Given the description of an element on the screen output the (x, y) to click on. 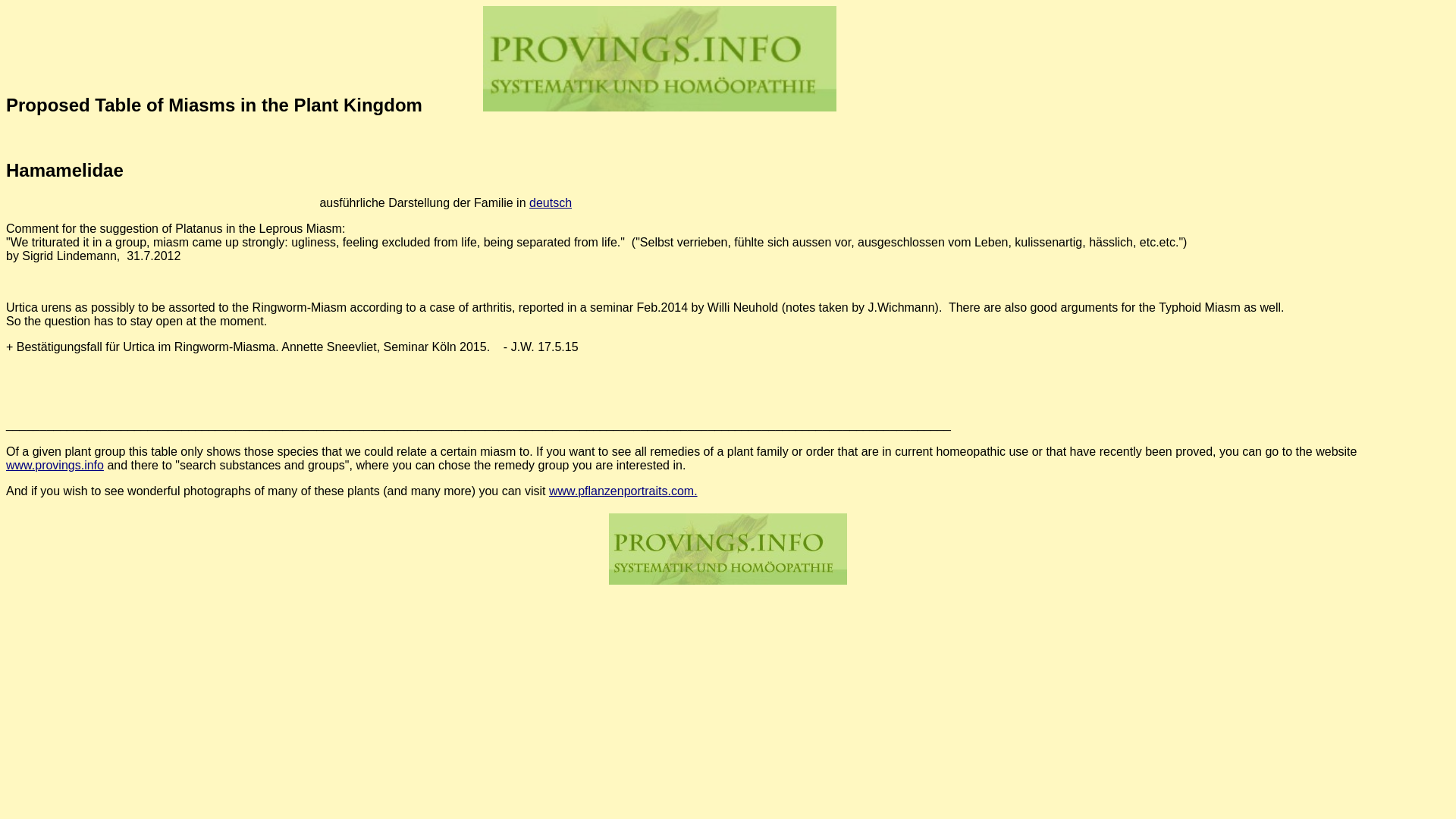
deutsch (550, 202)
www.pflanzenportraits.com. (622, 490)
www.provings.info (54, 464)
